Given the description of an element on the screen output the (x, y) to click on. 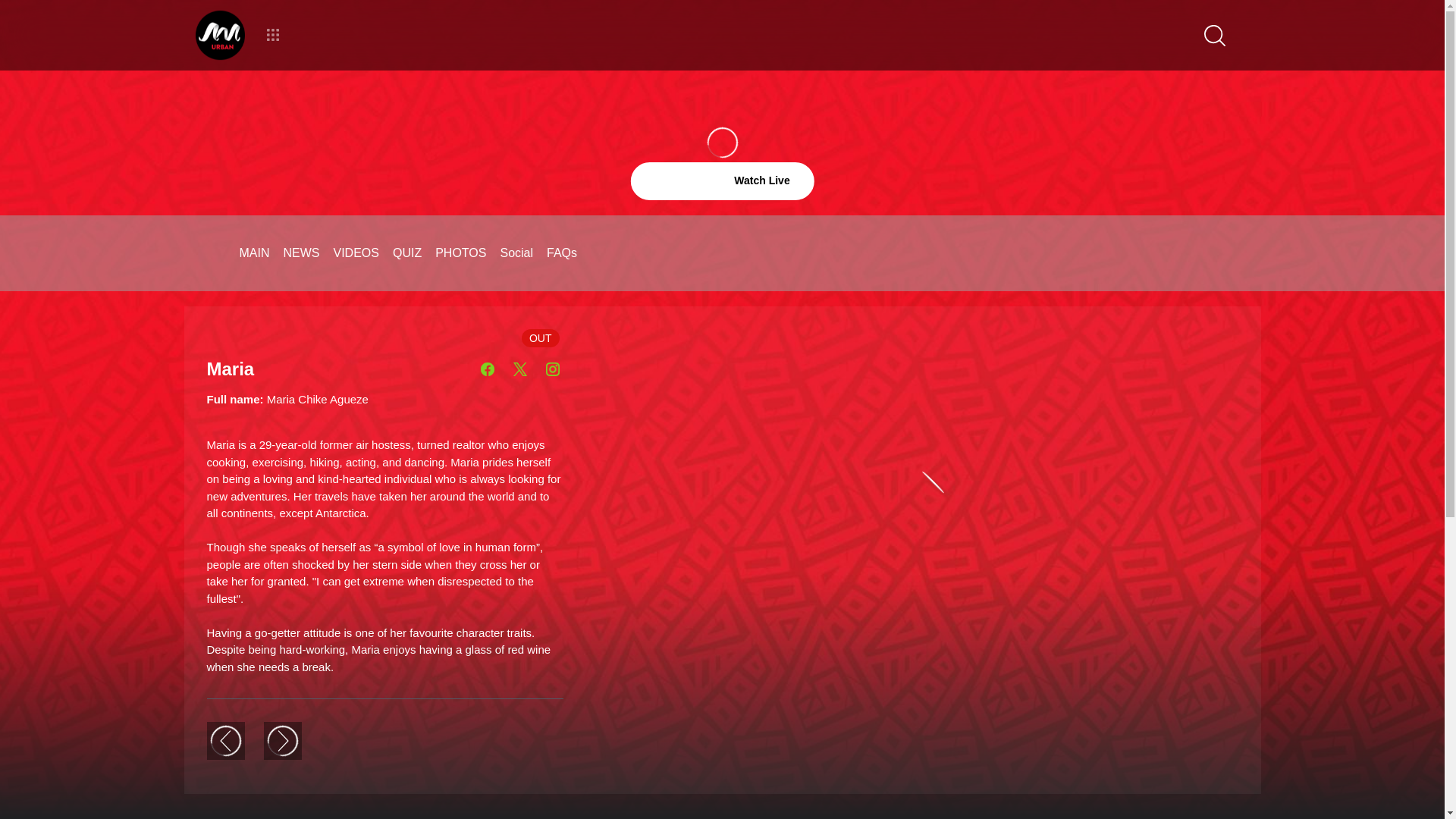
VIDEOS (355, 253)
NEWS (301, 253)
PHOTOS (460, 253)
Watch Live (721, 180)
Social (515, 253)
MAIN (254, 253)
FAQs (561, 253)
QUIZ (407, 253)
